Given the description of an element on the screen output the (x, y) to click on. 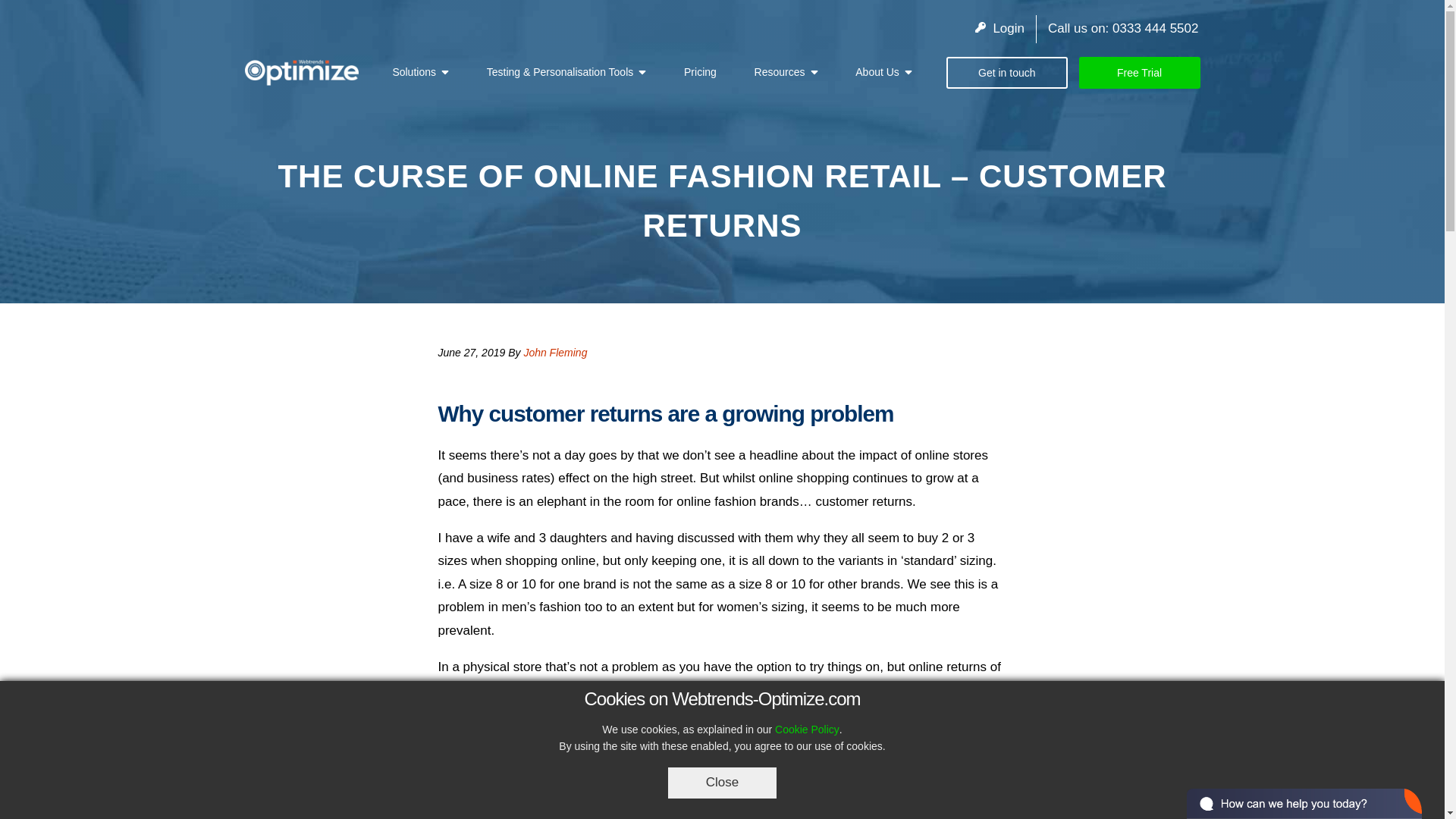
Webtrends Optimize logo (301, 72)
About Us (877, 71)
Pricing (700, 71)
Resources (779, 71)
Solutions (413, 71)
